Given the description of an element on the screen output the (x, y) to click on. 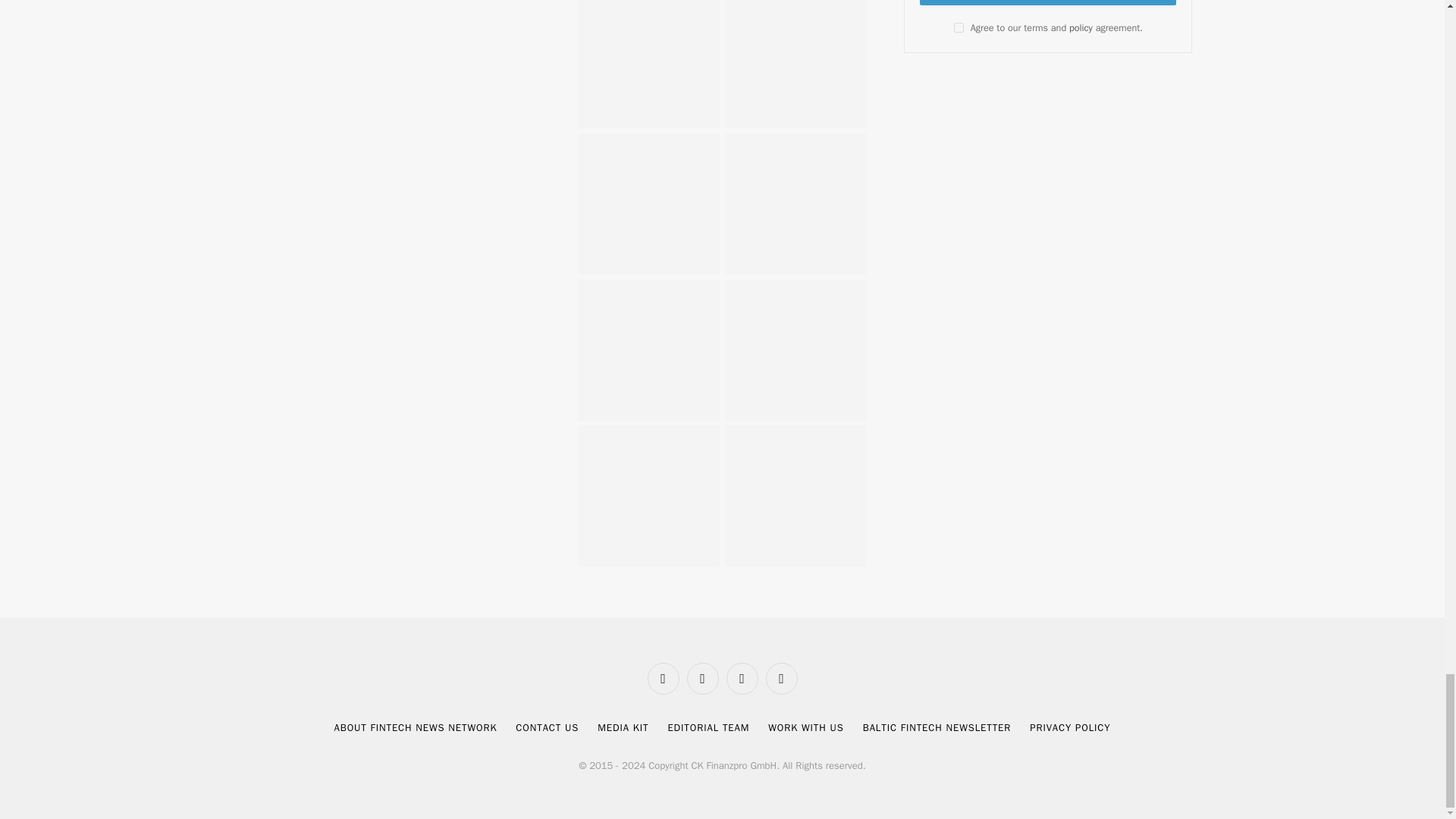
Subscribe (1048, 2)
on (958, 27)
